Given the description of an element on the screen output the (x, y) to click on. 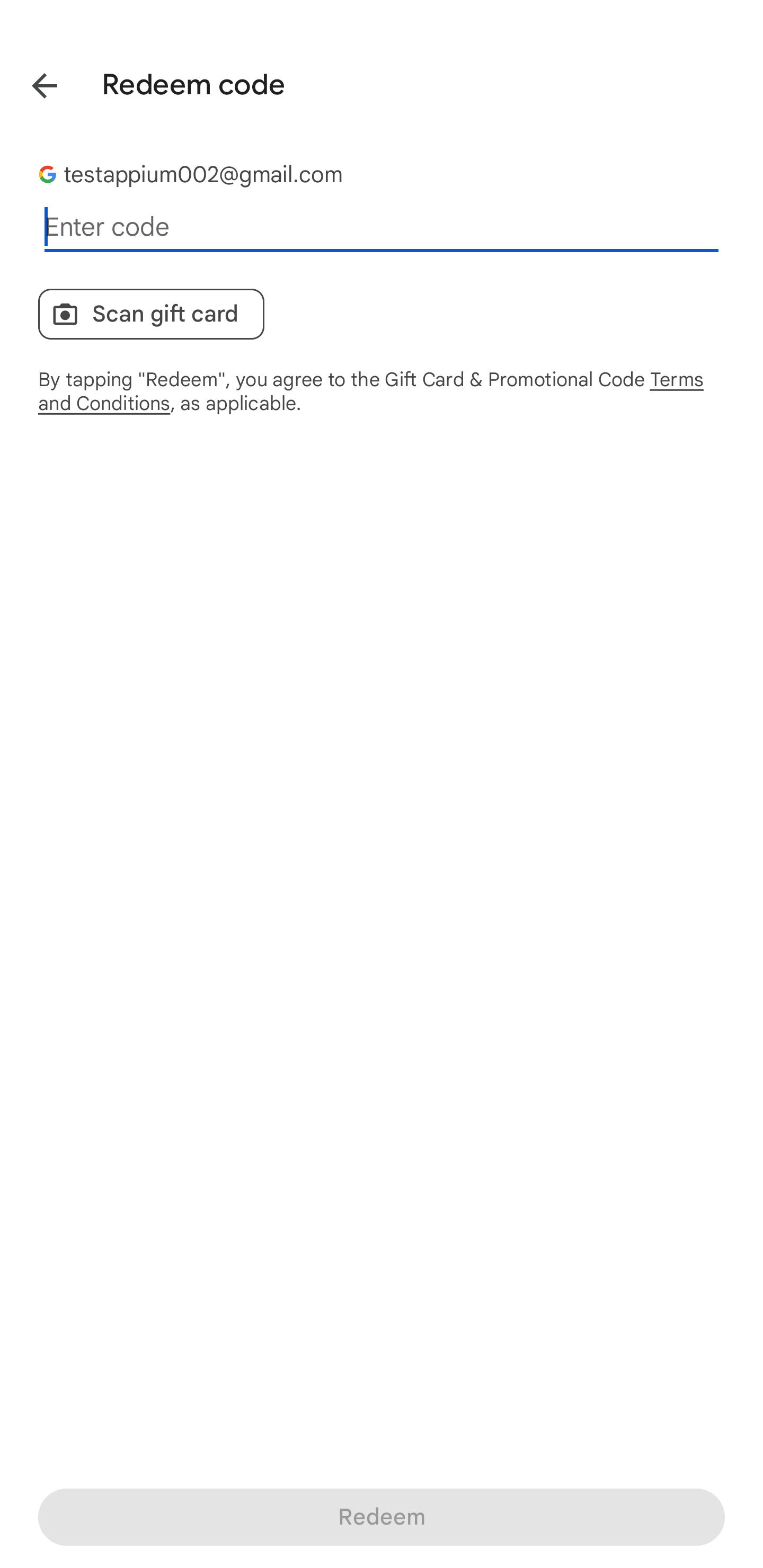
Back (31, 82)
Enter code (381, 227)
Scan gift card (151, 314)
